Given the description of an element on the screen output the (x, y) to click on. 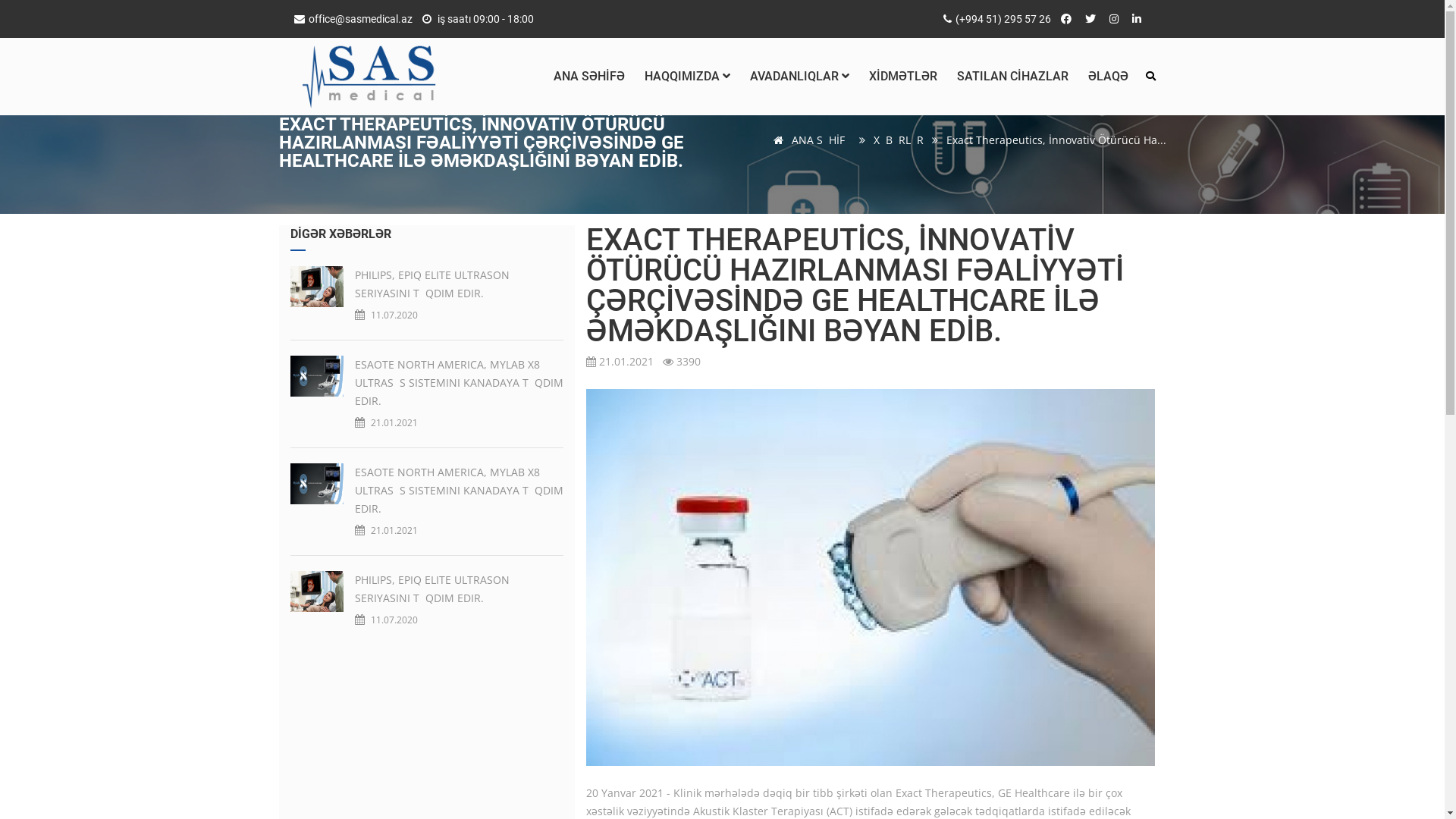
Axtar Element type: text (1149, 75)
AVADANLIQLAR Element type: text (799, 76)
SATILAN CIHAZLAR Element type: text (1011, 76)
HAQQIMIZDA Element type: text (686, 76)
